Given the description of an element on the screen output the (x, y) to click on. 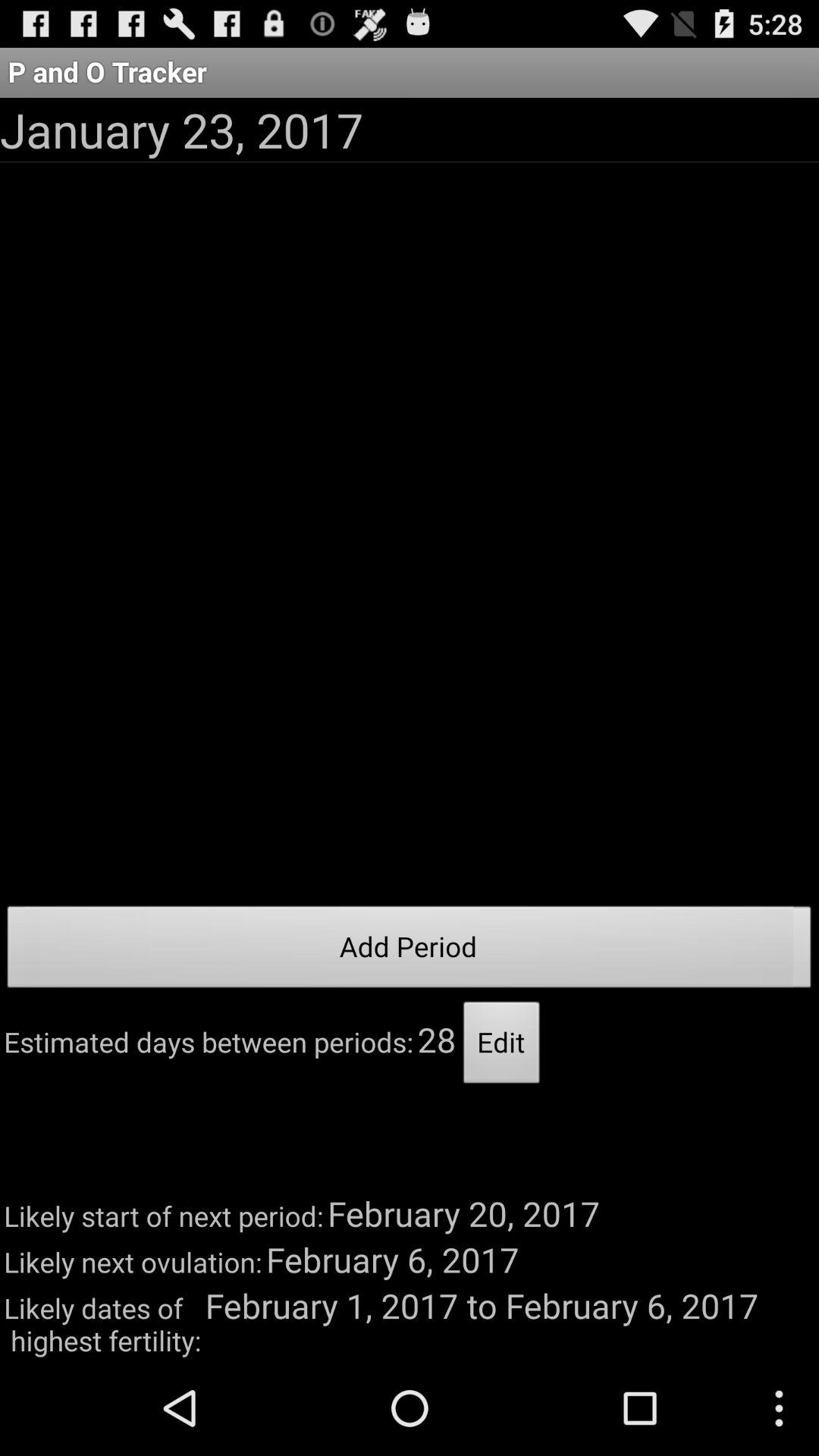
tap the app to the right of 28 app (501, 1046)
